Given the description of an element on the screen output the (x, y) to click on. 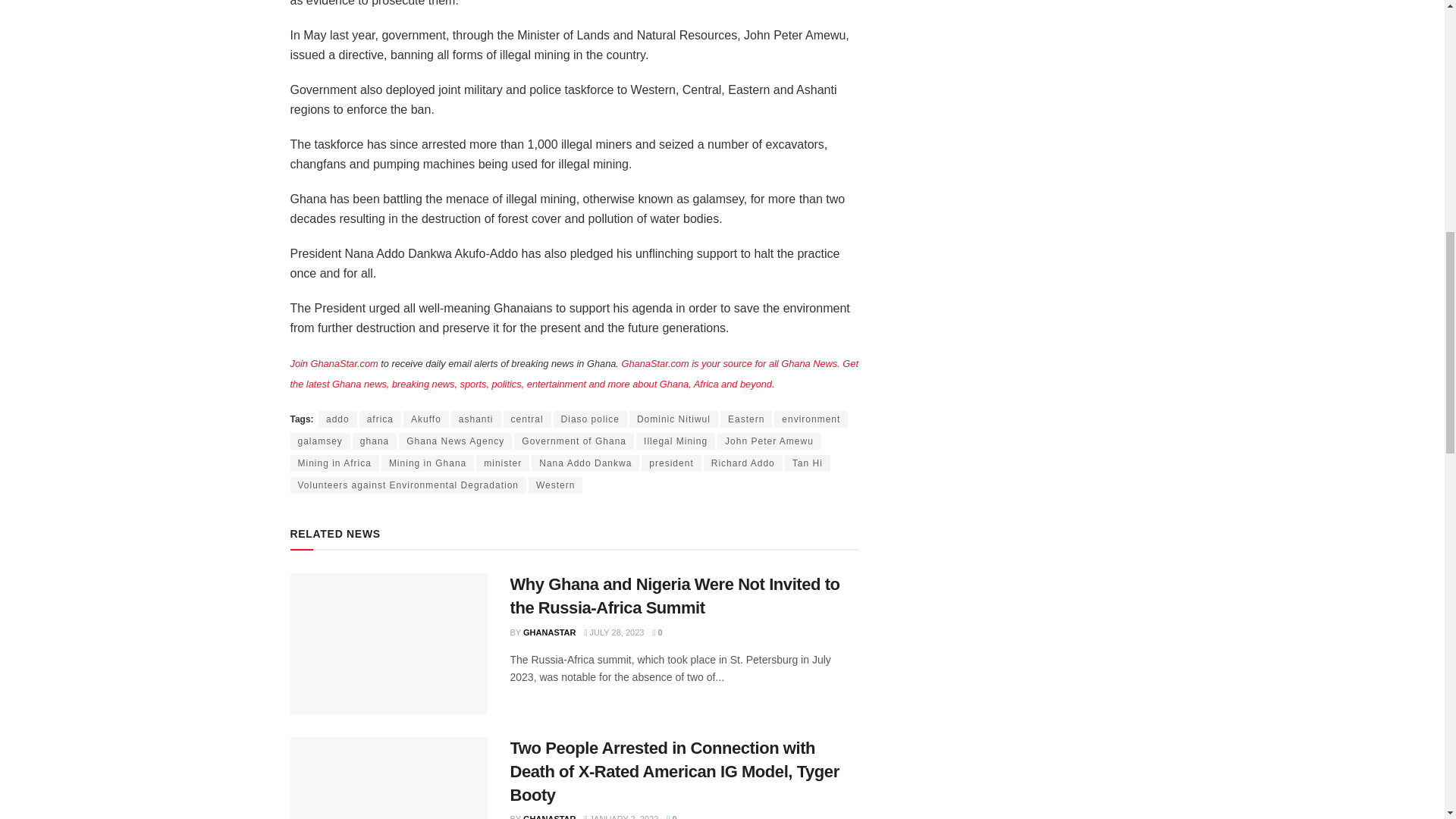
addo (337, 419)
Join GhanaStar.com (333, 363)
africa (380, 419)
